Given the description of an element on the screen output the (x, y) to click on. 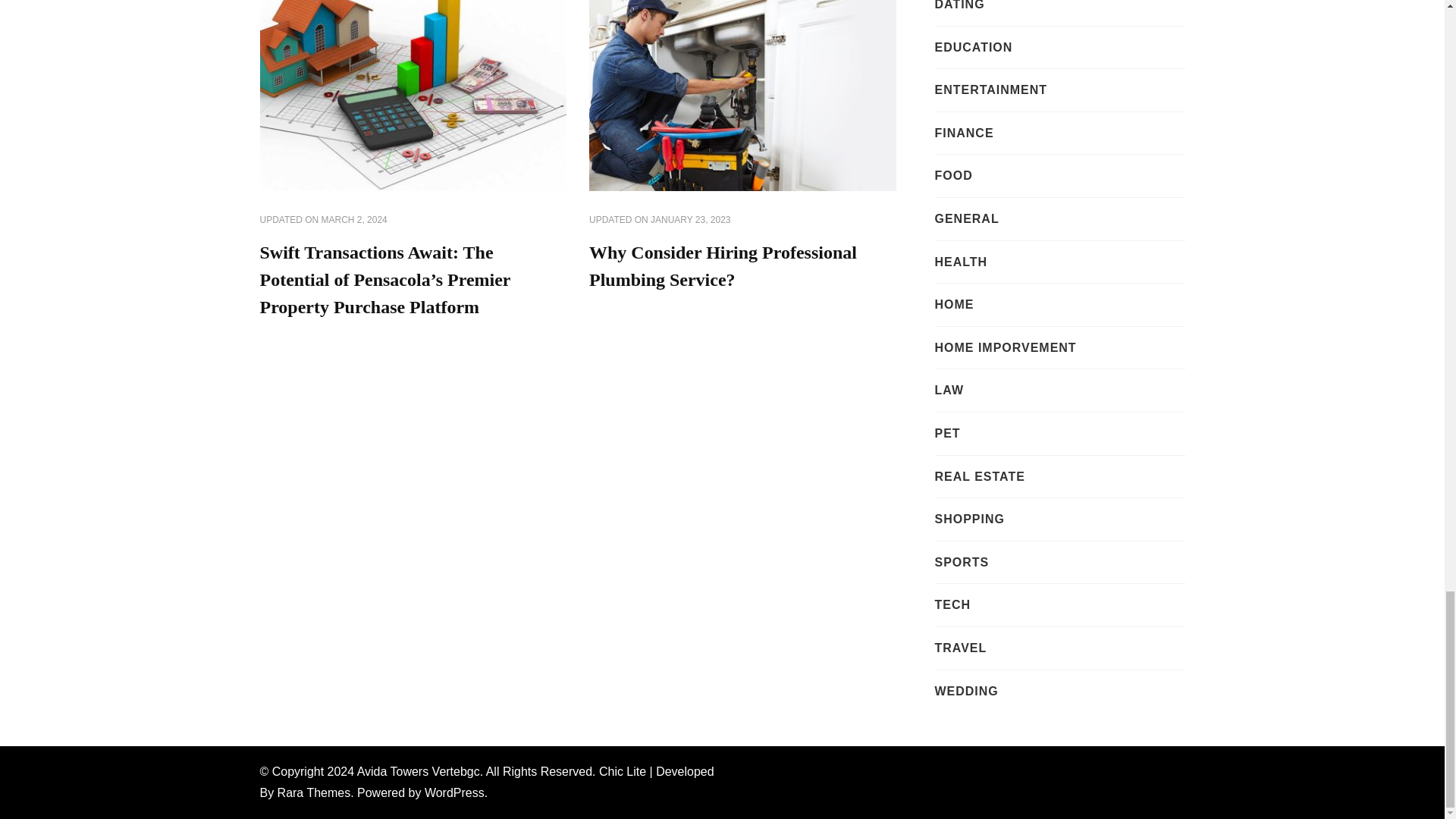
Why Consider Hiring Professional Plumbing Service? (723, 265)
MARCH 2, 2024 (354, 220)
JANUARY 23, 2023 (690, 220)
